Given the description of an element on the screen output the (x, y) to click on. 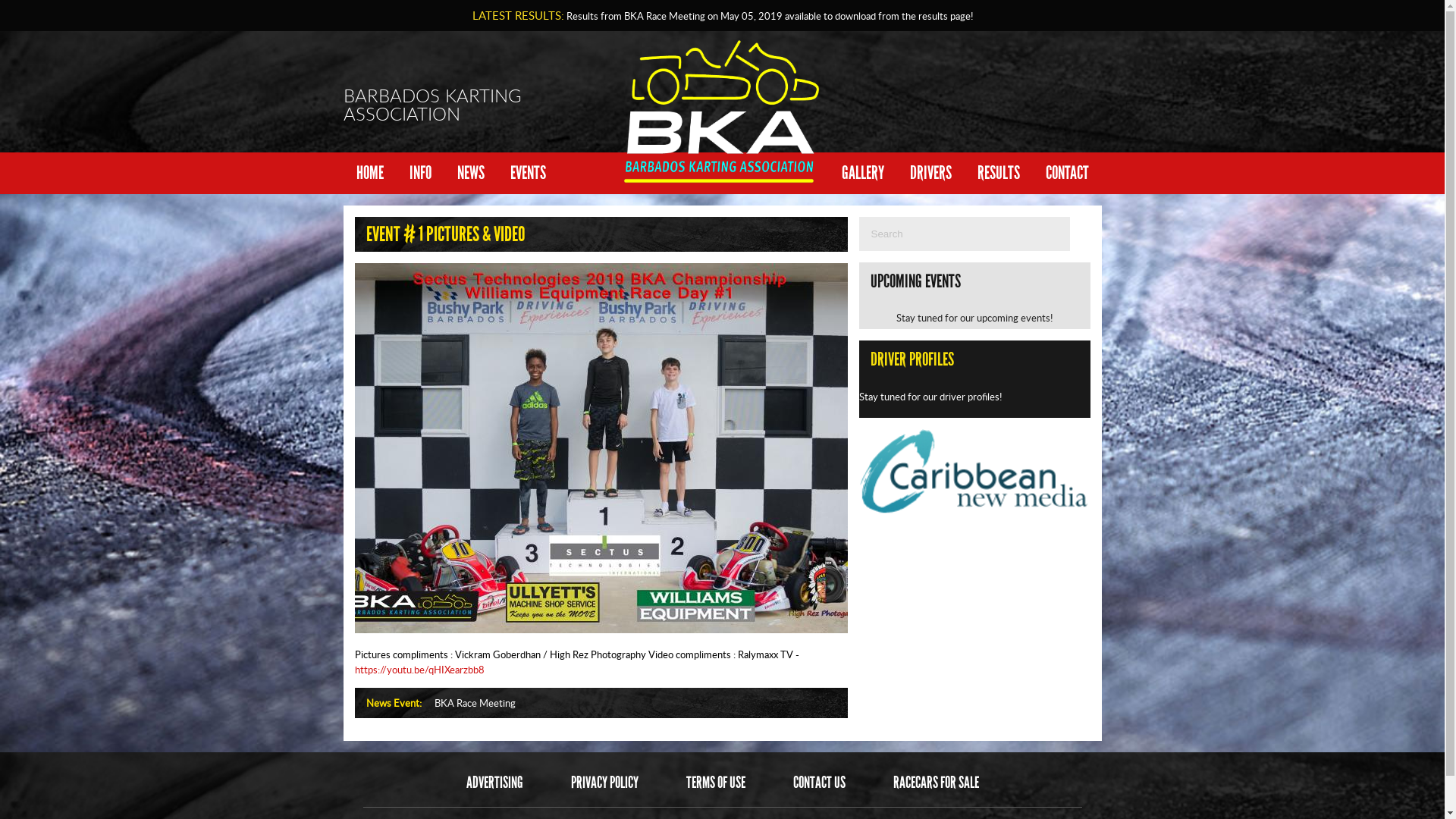
Enter the terms you wish to search for. Element type: hover (963, 233)
https://youtu.be/qHIXearzbb8 Element type: text (419, 669)
INFO Element type: text (419, 172)
BKA Race Meeting Element type: text (473, 702)
Search Element type: text (1079, 234)
EVENTS Element type: text (527, 172)
PRIVACY POLICY Element type: text (603, 782)
ADVERTISING Element type: text (493, 782)
NEWS Element type: text (470, 172)
HOME Element type: text (368, 172)
GALLERY Element type: text (862, 172)
RACECARS FOR SALE Element type: text (935, 782)
DRIVERS Element type: text (929, 172)
CONTACT US Element type: text (819, 782)
TERMS OF USE Element type: text (714, 782)
Jump to Navigation Element type: text (722, 2)
RESULTS Element type: text (998, 172)
CONTACT Element type: text (1066, 172)
